Given the description of an element on the screen output the (x, y) to click on. 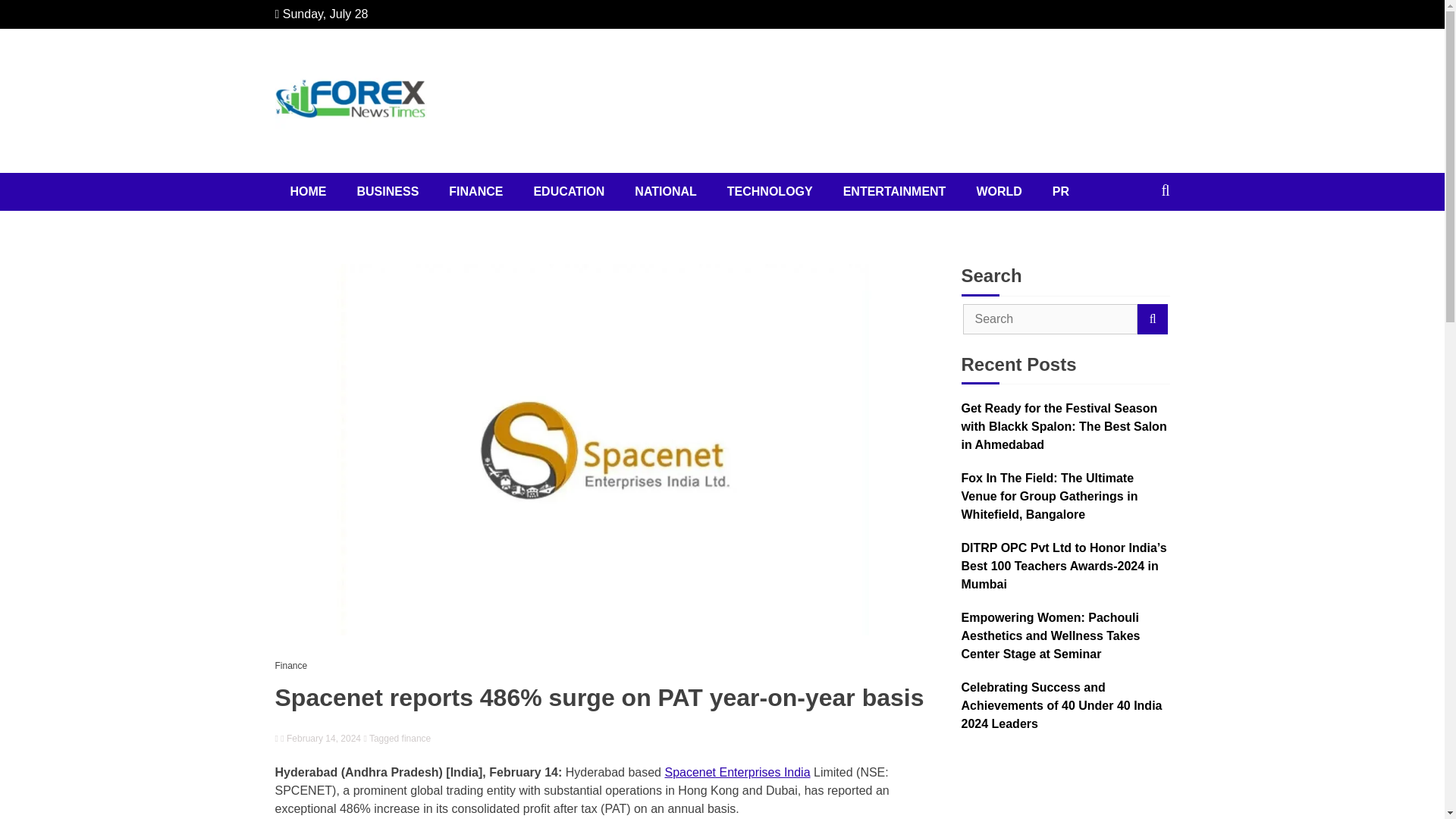
NATIONAL (665, 191)
FINANCE (475, 191)
Finance (294, 665)
finance (415, 738)
EDUCATION (569, 191)
February 14, 2024 (321, 738)
HOME (307, 191)
TECHNOLOGY (769, 191)
Spacenet Enterprises India (736, 771)
PR (1060, 191)
BUSINESS (386, 191)
